Given the description of an element on the screen output the (x, y) to click on. 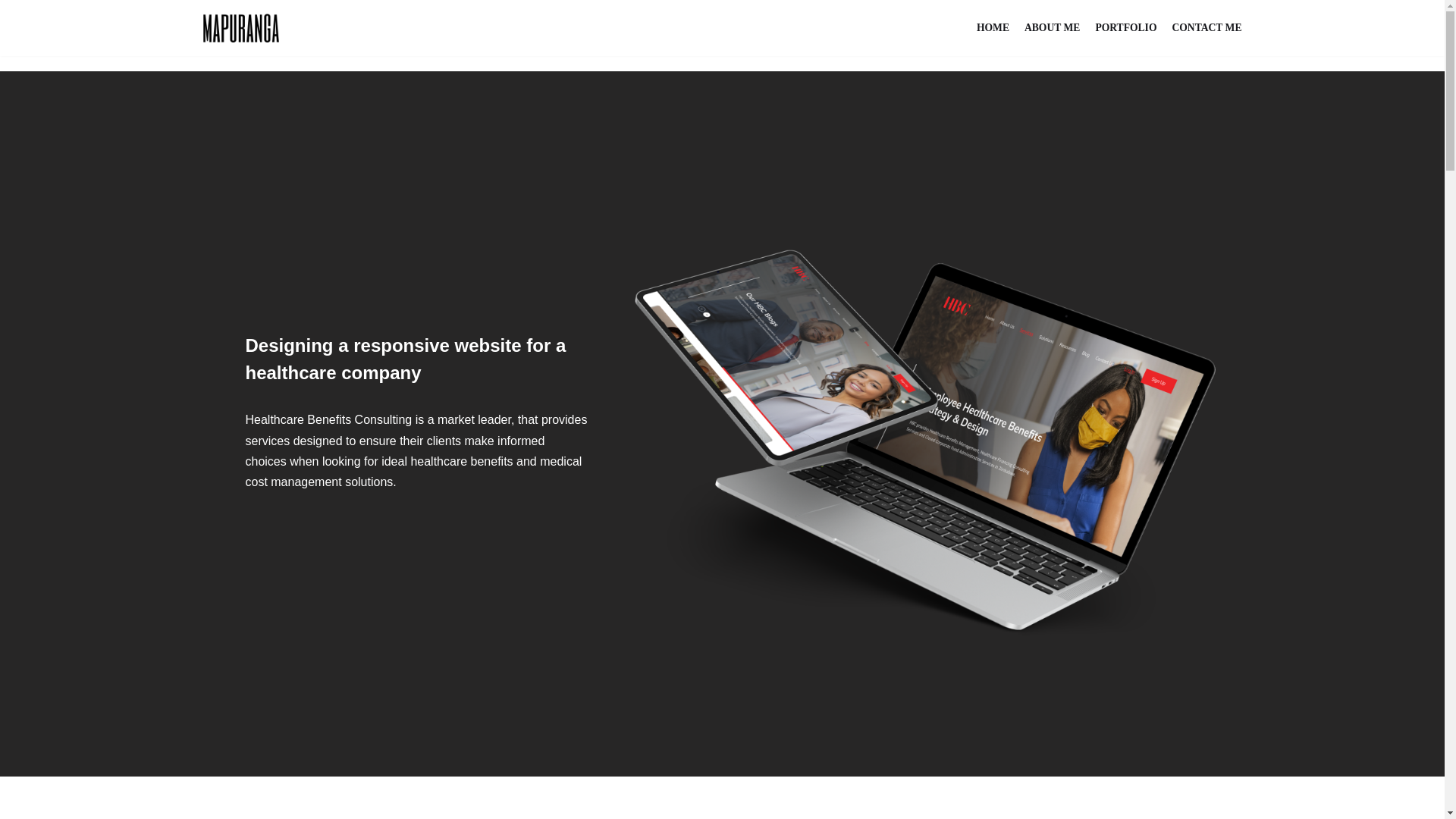
CONTACT ME (1206, 27)
ABOUT ME (1052, 27)
Mapuranga (241, 27)
Skip to content (11, 31)
HOME (992, 27)
PORTFOLIO (1125, 27)
